Given the description of an element on the screen output the (x, y) to click on. 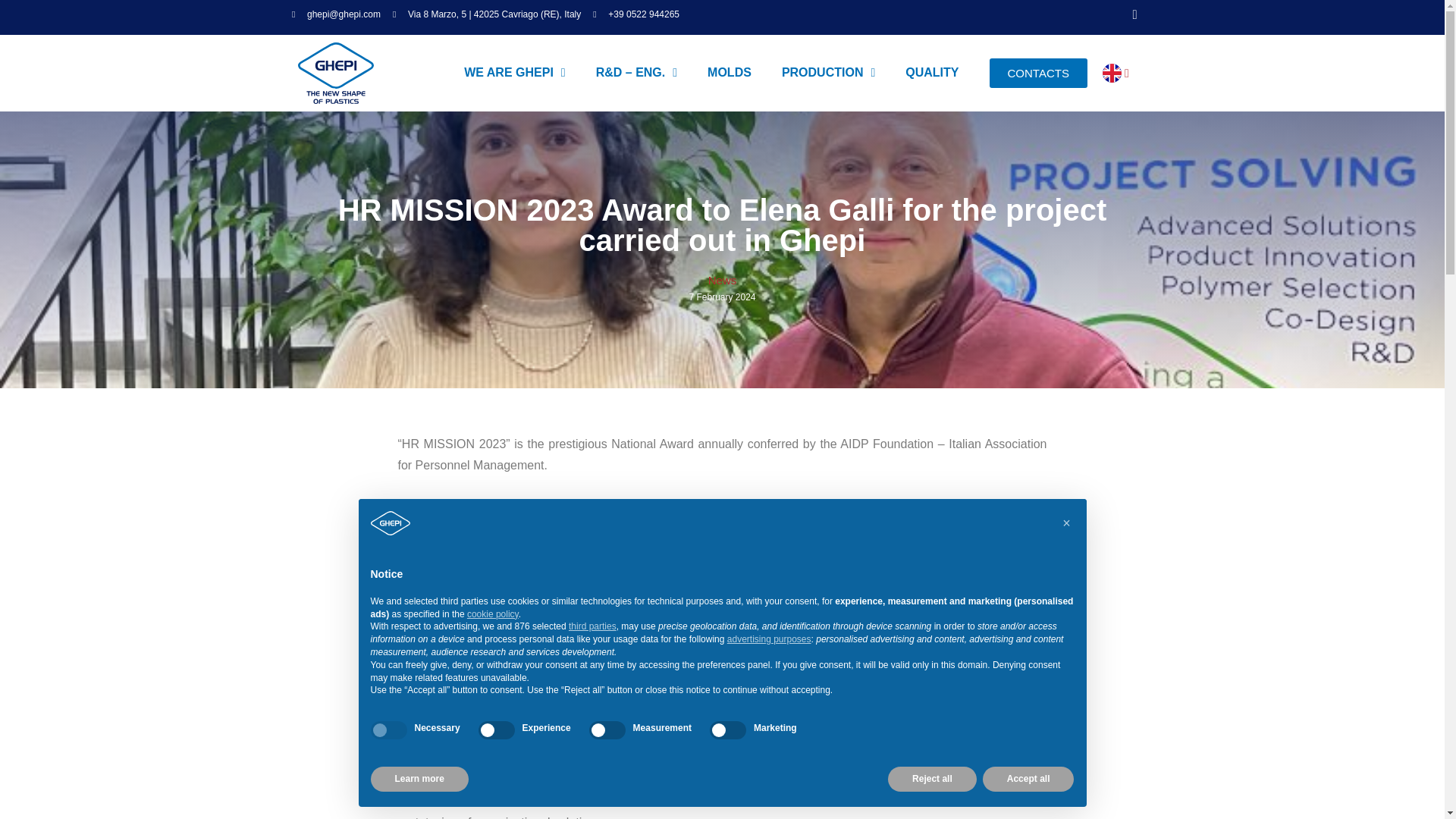
false (607, 730)
QUALITY (931, 72)
true (387, 730)
false (727, 730)
CONTACTS (1037, 72)
false (497, 730)
WE ARE GHEPI (513, 72)
MOLDS (730, 72)
PRODUCTION (828, 72)
